Given the description of an element on the screen output the (x, y) to click on. 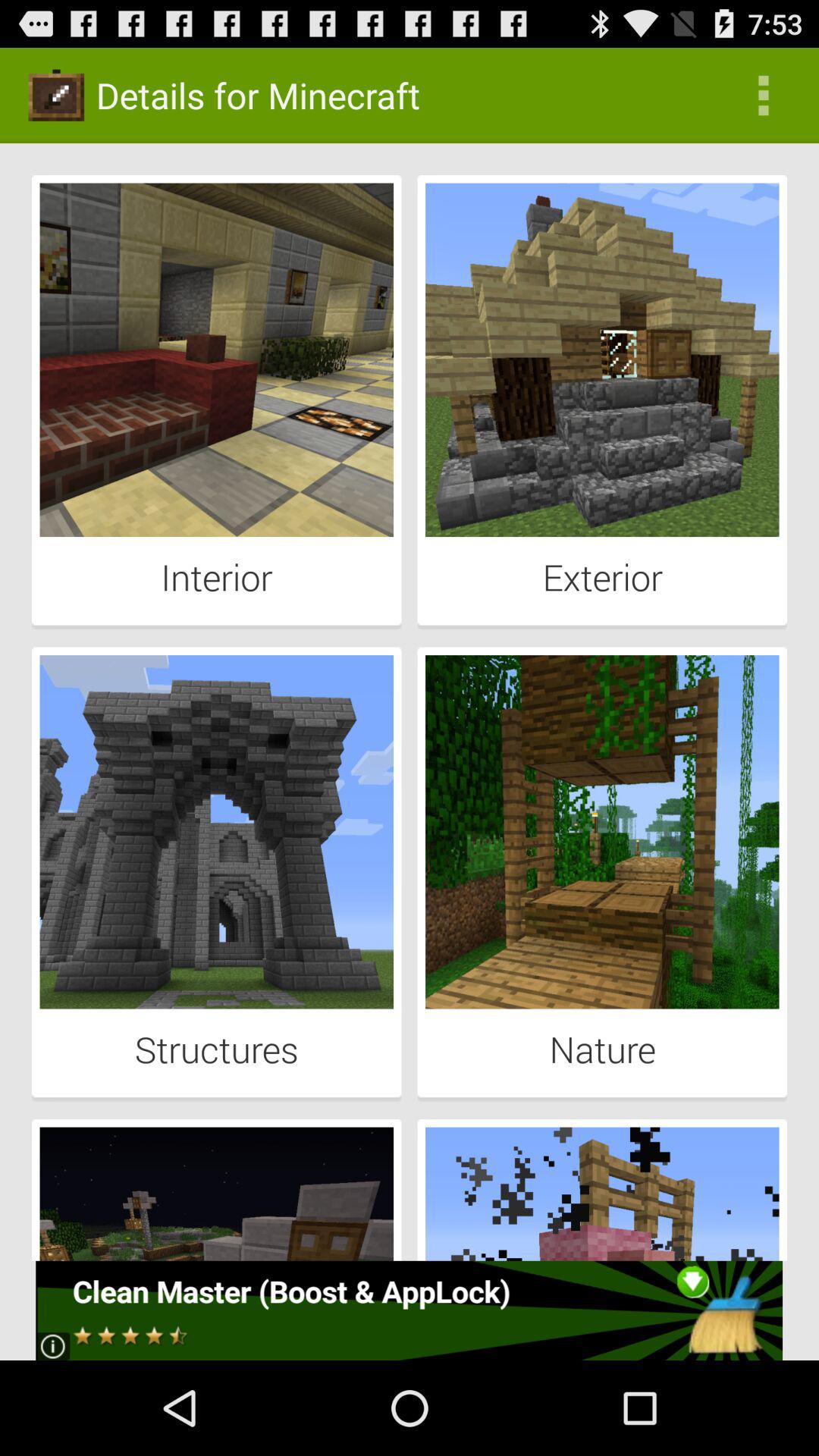
details about advertisement (408, 1310)
